Given the description of an element on the screen output the (x, y) to click on. 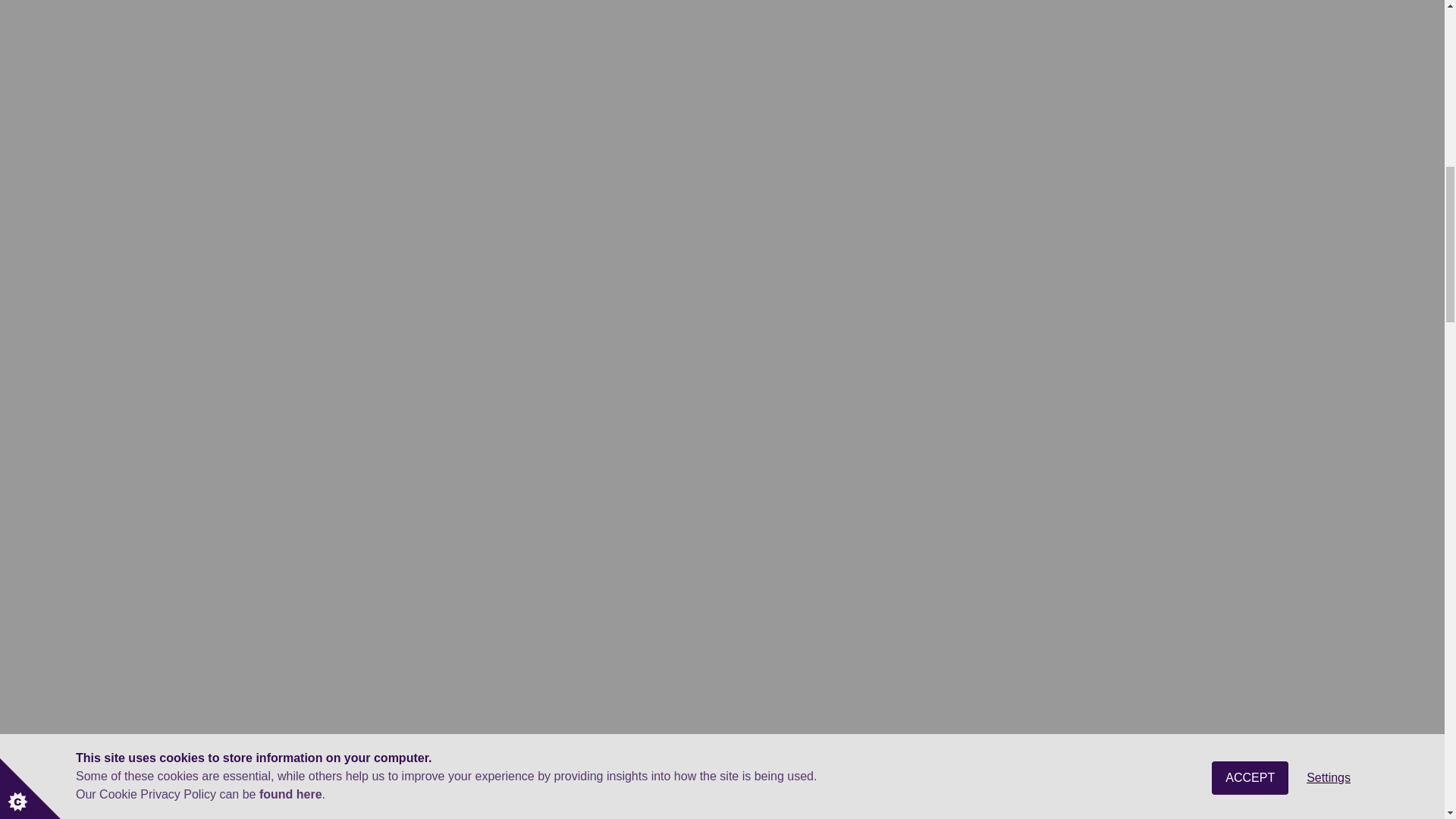
Settings (1328, 4)
found here (290, 34)
ACCEPT (1249, 9)
